Given the description of an element on the screen output the (x, y) to click on. 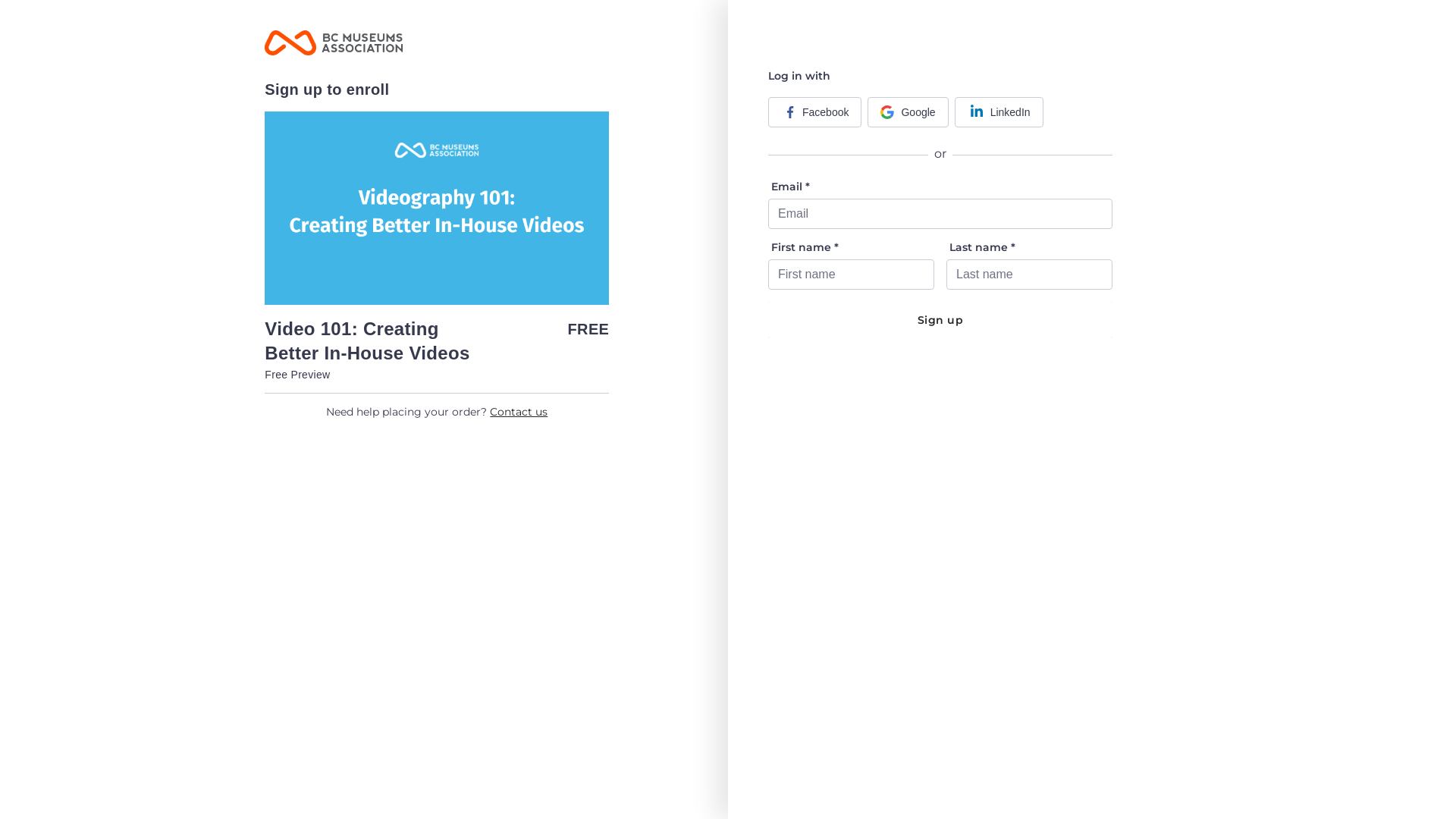
Facebook Element type: text (814, 112)
Sign up Element type: text (940, 319)
Google Element type: text (907, 112)
LinkedIn Element type: text (998, 112)
Contact us Element type: text (518, 411)
